Given the description of an element on the screen output the (x, y) to click on. 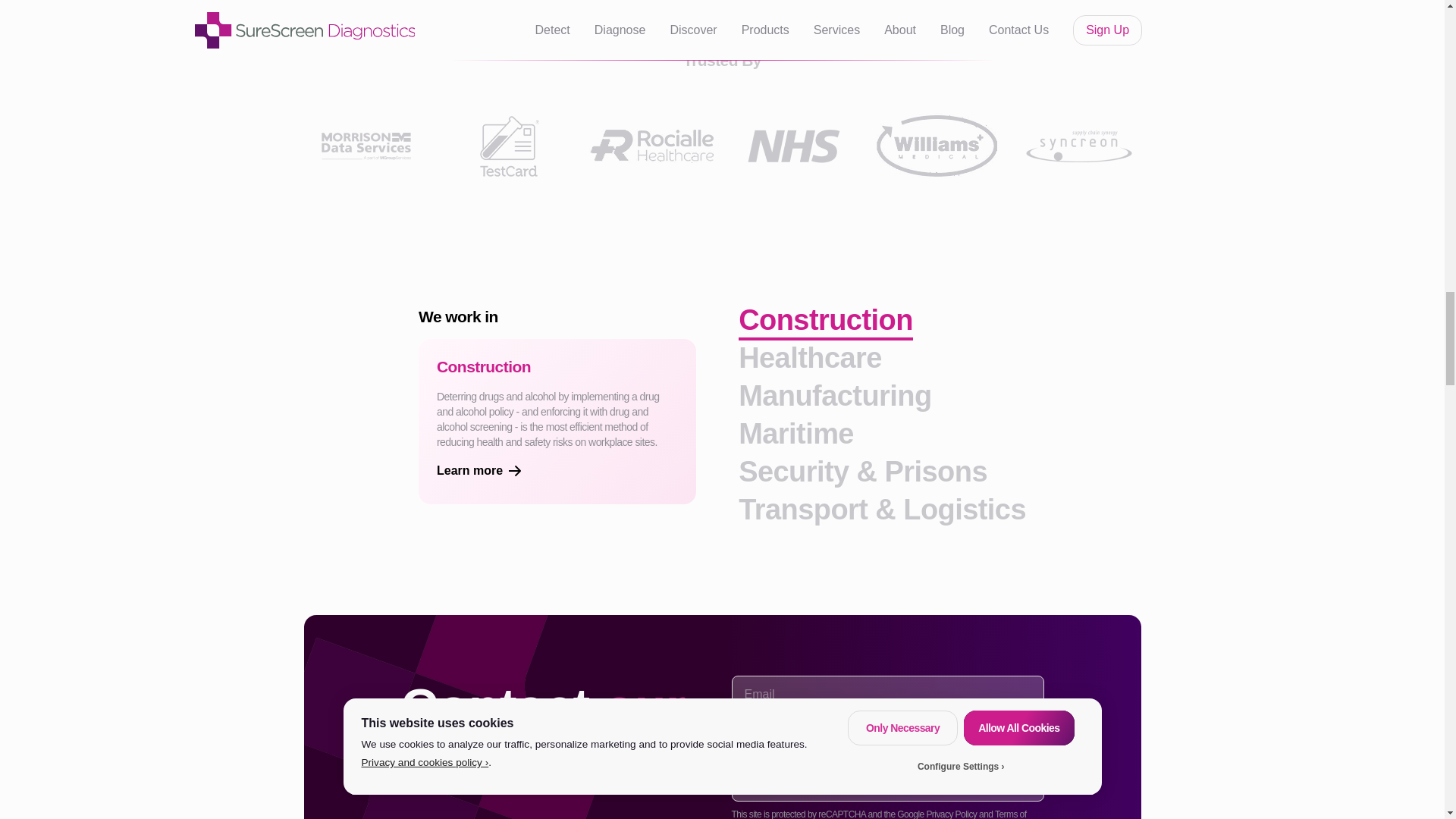
Learn more (557, 470)
Privacy Policy (951, 813)
